Given the description of an element on the screen output the (x, y) to click on. 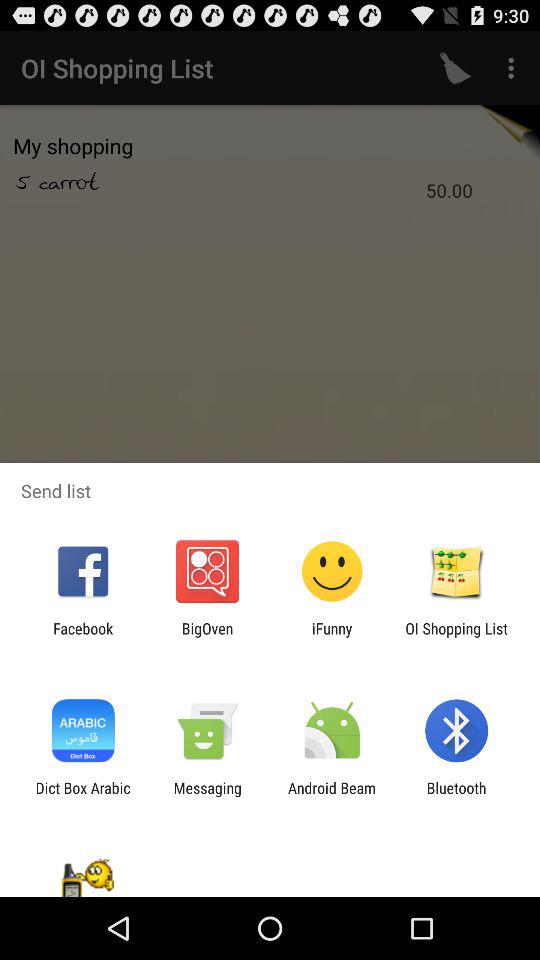
open icon to the right of dict box arabic item (207, 796)
